Given the description of an element on the screen output the (x, y) to click on. 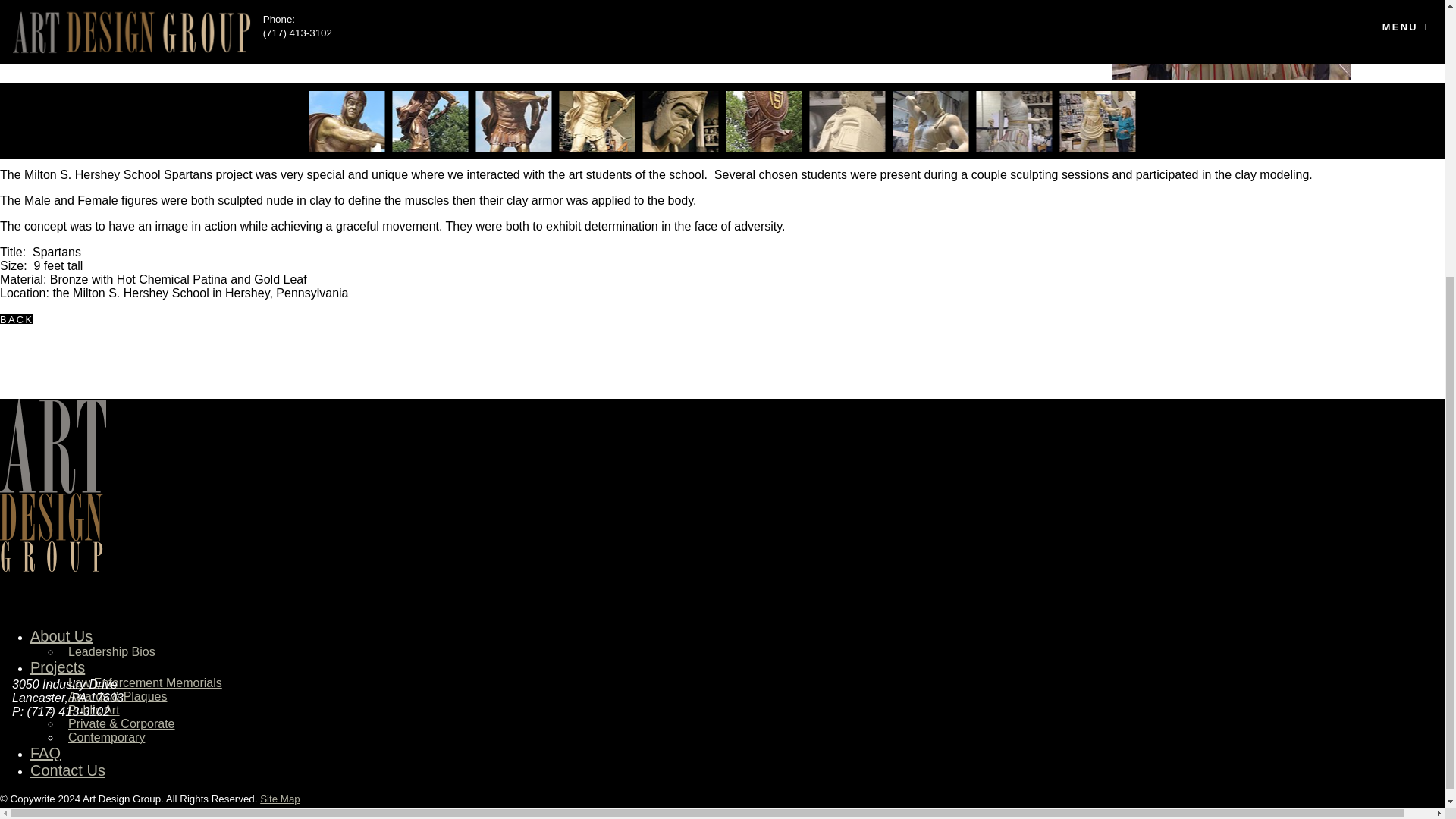
About Us (61, 636)
Contact Us (67, 770)
Public Art (93, 709)
NetSource Inc. (166, 812)
Site Map (279, 798)
FAQ (45, 752)
Leadership Bios (111, 651)
Contemporary (106, 737)
Projects (57, 667)
BACK (16, 319)
Law Enforcement Memorials (145, 682)
